Given the description of an element on the screen output the (x, y) to click on. 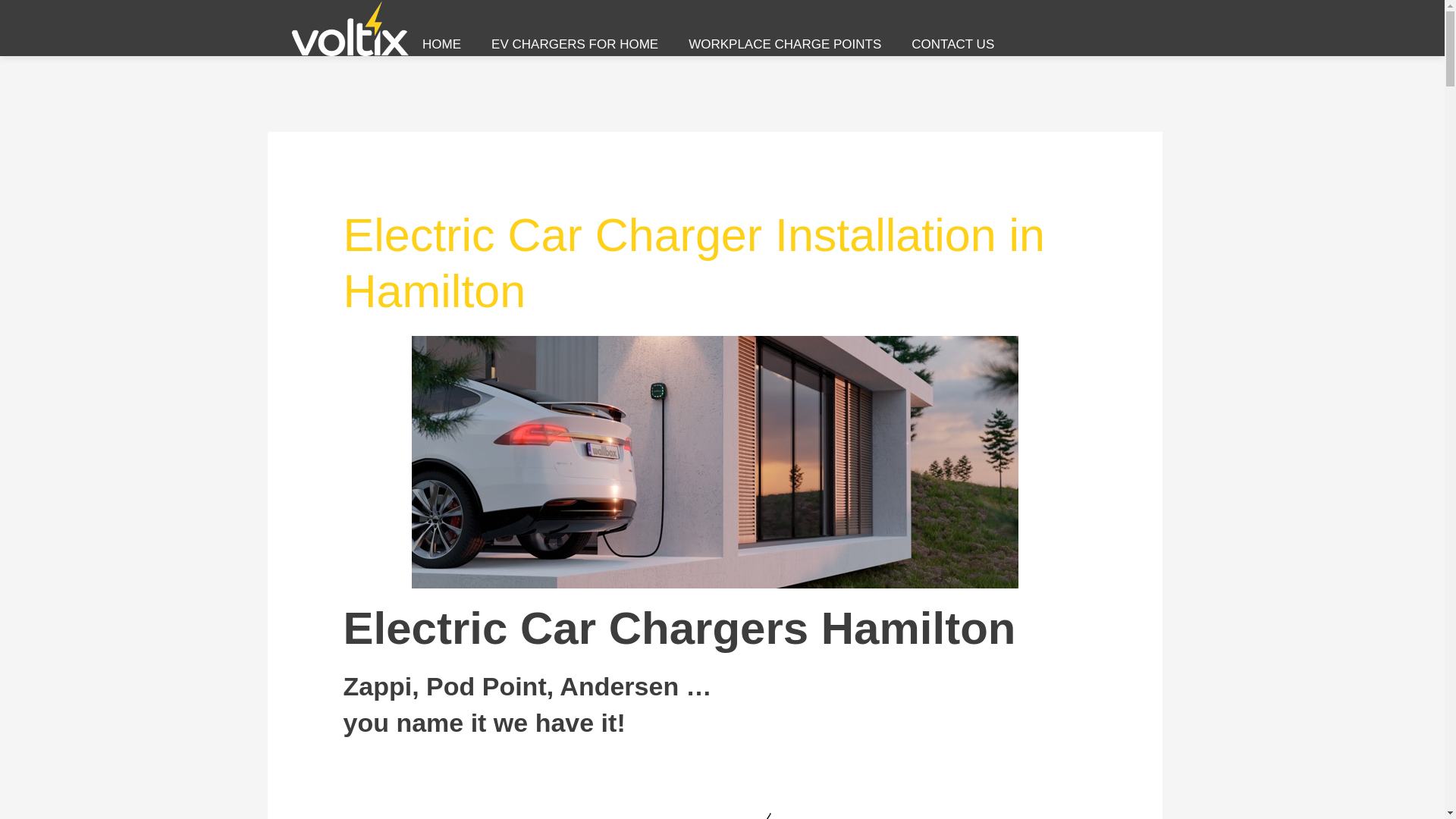
HOME (440, 44)
EV CHARGERS FOR HOME (574, 44)
CONTACT US (952, 44)
Voltix Home EV Chargers (349, 28)
WORKPLACE CHARGE POINTS (784, 44)
